Given the description of an element on the screen output the (x, y) to click on. 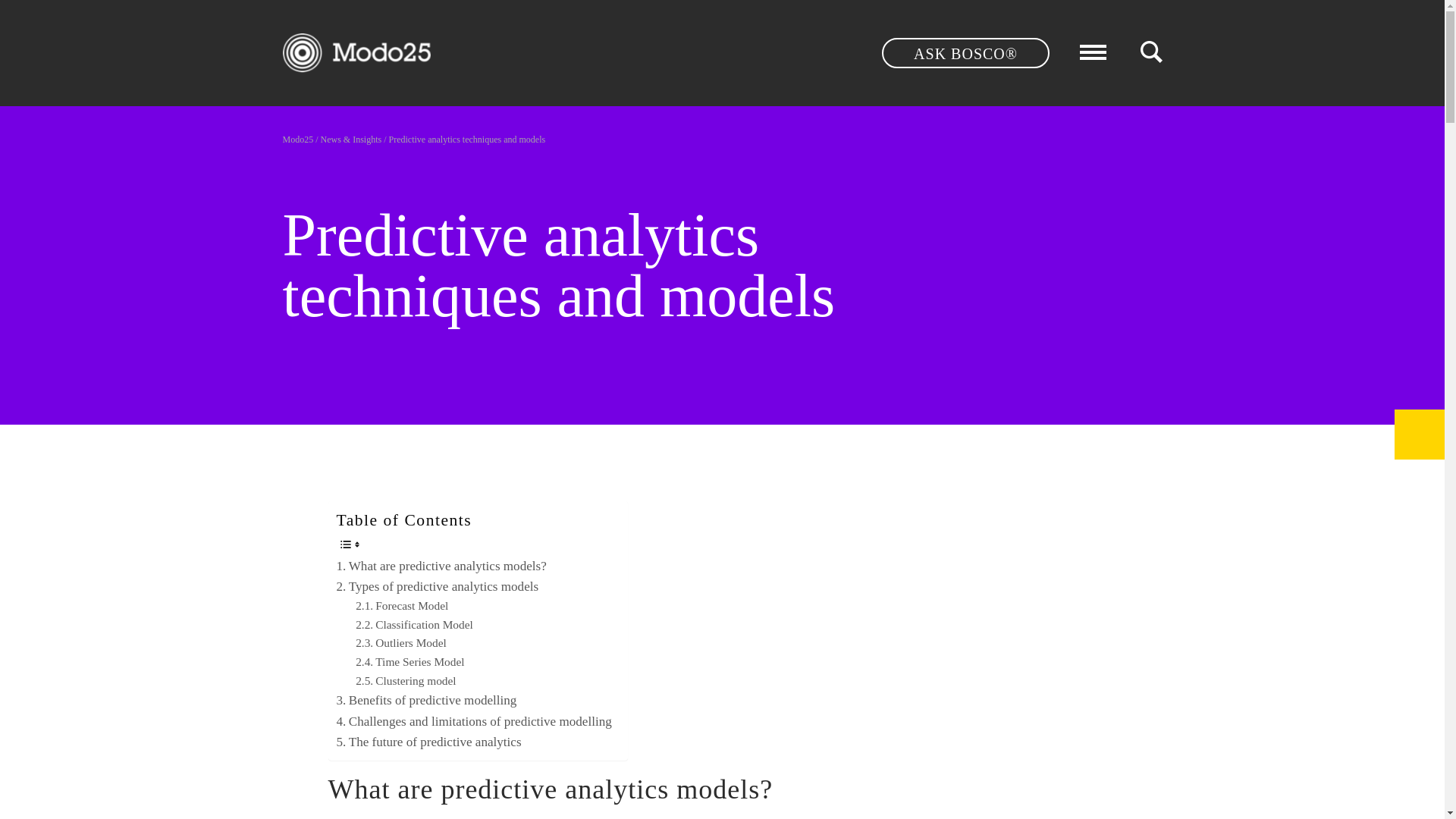
Clustering model (405, 681)
What are predictive analytics models? (441, 566)
Forecast Model (401, 606)
Classification Model (414, 624)
Benefits of predictive modelling (426, 700)
Challenges and limitations of predictive modelling (473, 721)
Search (1010, 45)
Outliers Model (400, 642)
The future of predictive analytics (428, 742)
Outliers Model (400, 642)
The future of predictive analytics (428, 742)
Time Series Model (409, 661)
Clustering model (405, 681)
Challenges and limitations of predictive modelling (473, 721)
